Given the description of an element on the screen output the (x, y) to click on. 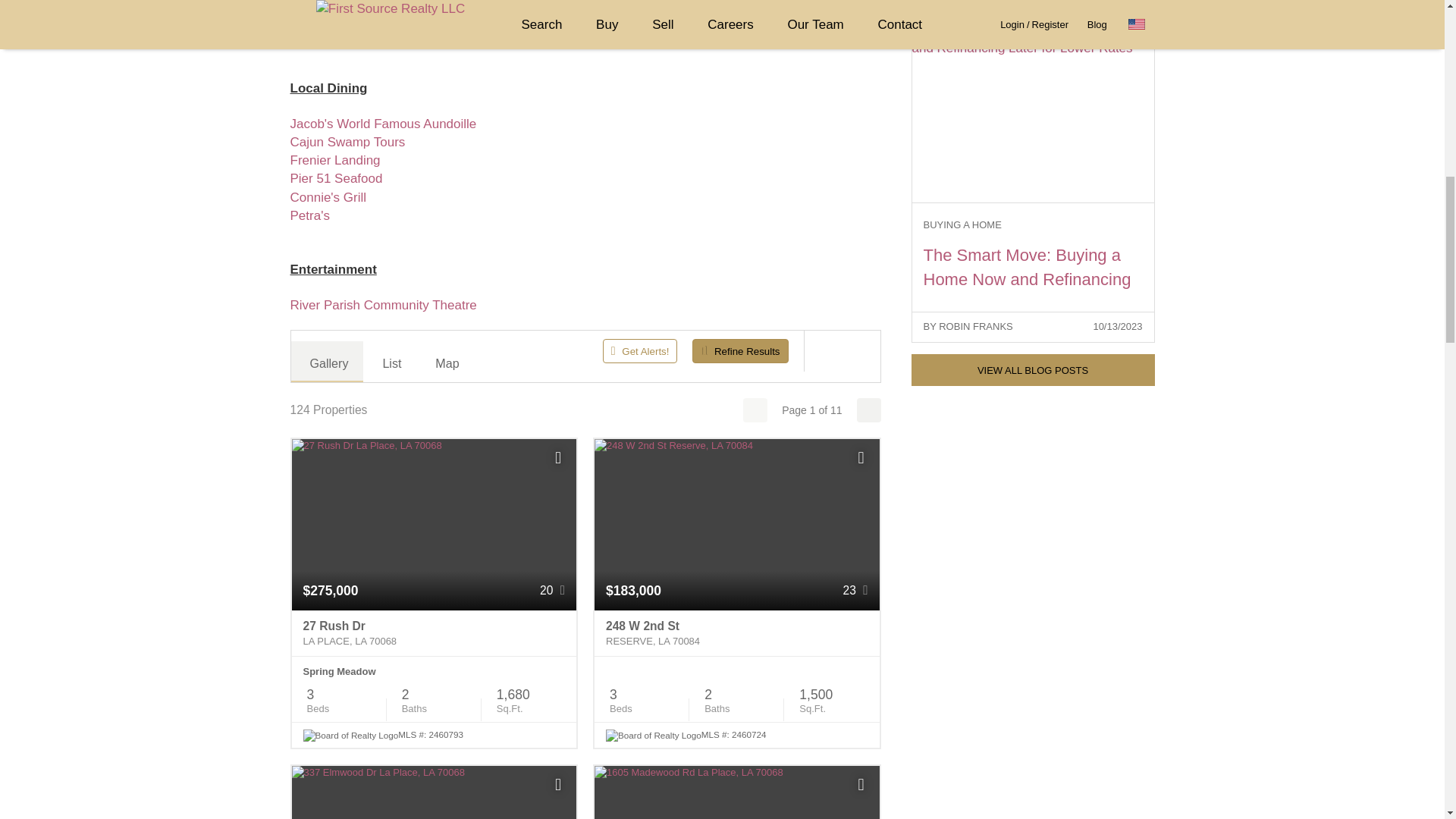
27 Rush Dr La Place,  LA 70068 (433, 633)
248 W 2nd St Reserve,  LA 70084 (736, 633)
